Given the description of an element on the screen output the (x, y) to click on. 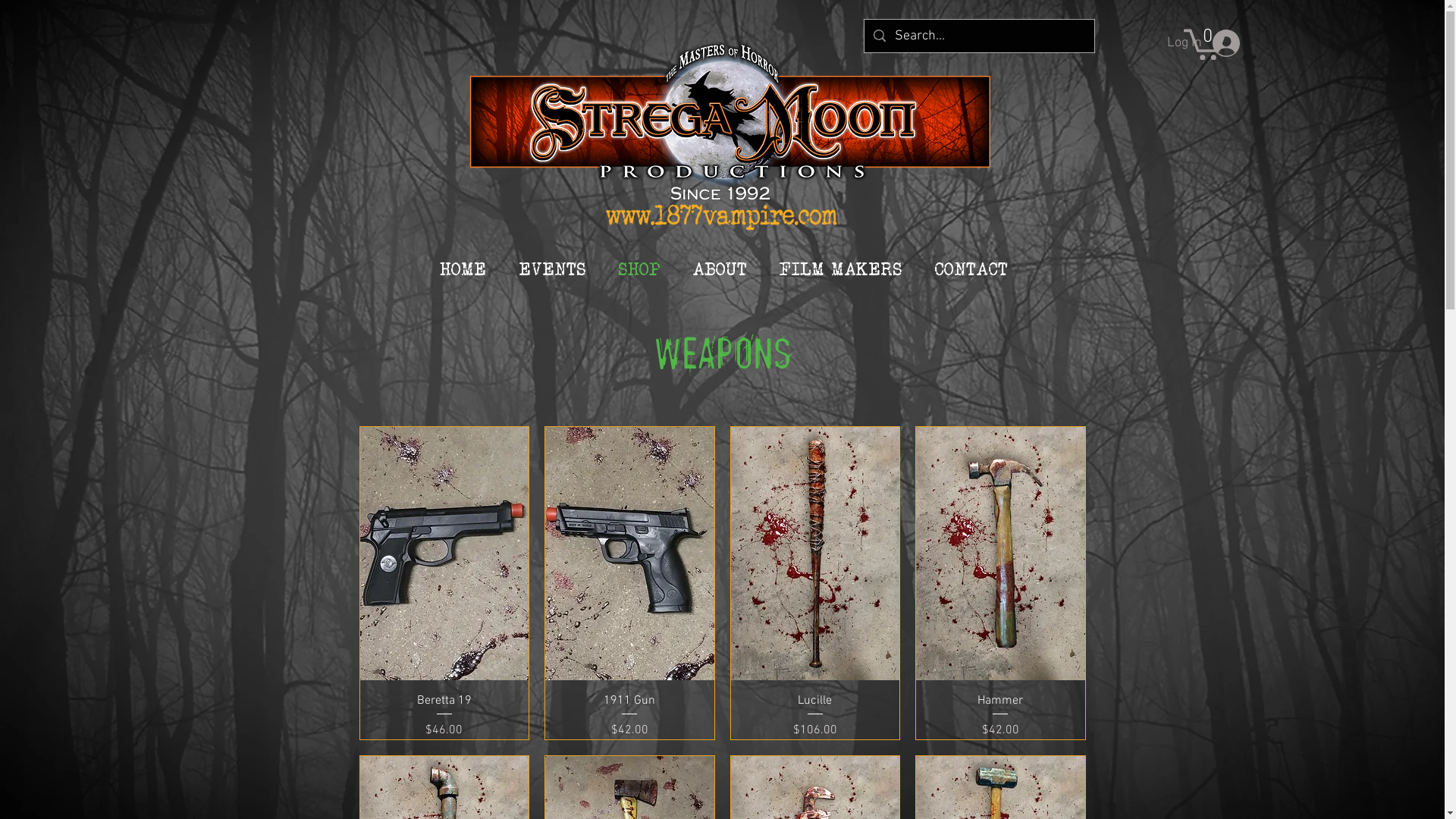
Beretta 19
Price
$46.00 Element type: text (443, 715)
CONTACT Element type: text (969, 268)
EVENTS Element type: text (551, 268)
0 Element type: text (1203, 42)
ABOUT Element type: text (719, 268)
Hammer
Price
$42.00 Element type: text (1000, 715)
1911 Gun
Price
$42.00 Element type: text (629, 715)
HOME Element type: text (462, 268)
Lucille
Price
$106.00 Element type: text (815, 715)
SHOP Element type: text (639, 268)
FILM MAKERS Element type: text (840, 268)
Log In Element type: text (1202, 42)
